Given the description of an element on the screen output the (x, y) to click on. 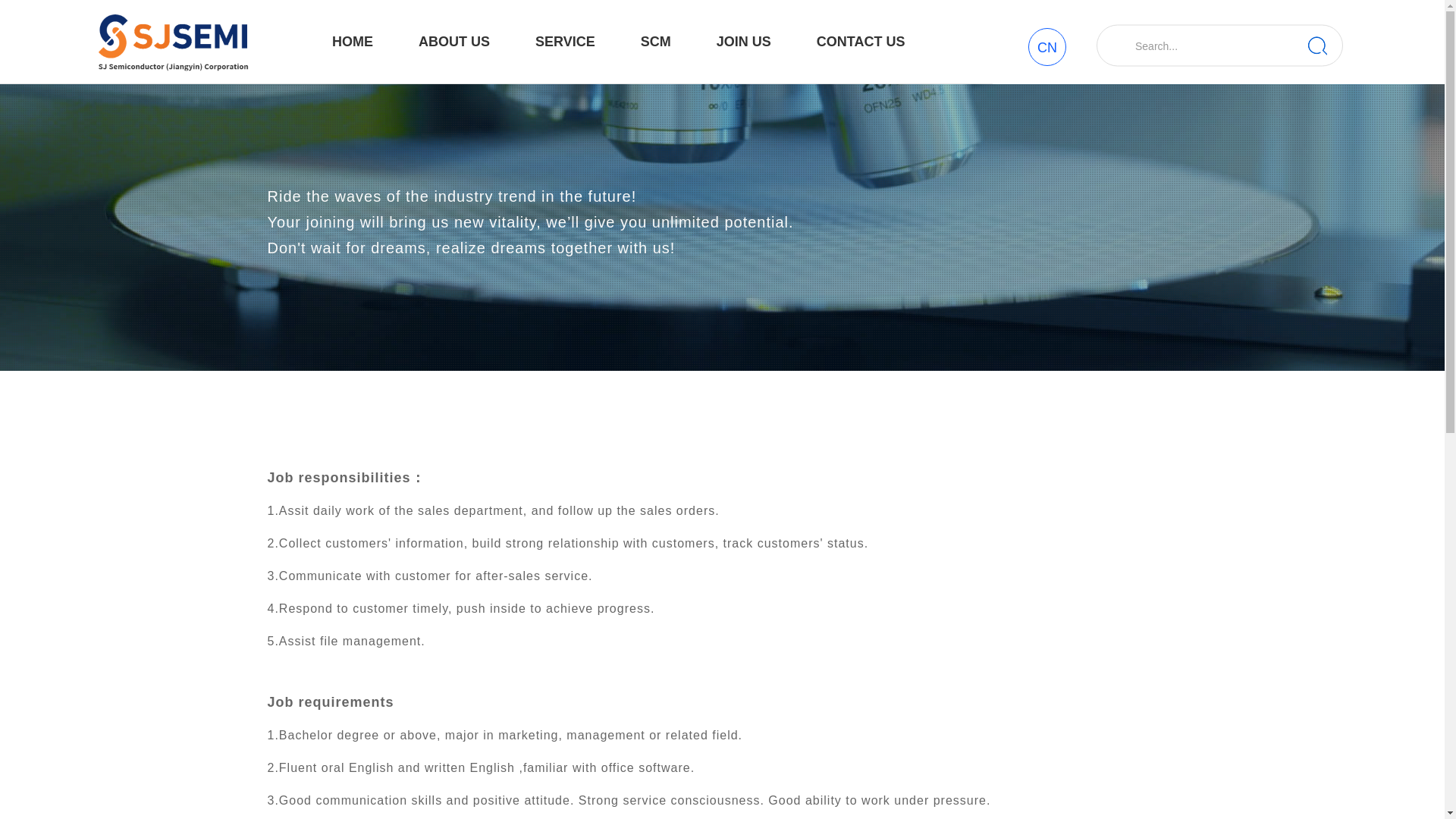
CONTACT US (860, 41)
HOME (352, 41)
JOIN US (743, 41)
SCM (655, 41)
ABOUT US (454, 41)
SERVICE (564, 41)
